Given the description of an element on the screen output the (x, y) to click on. 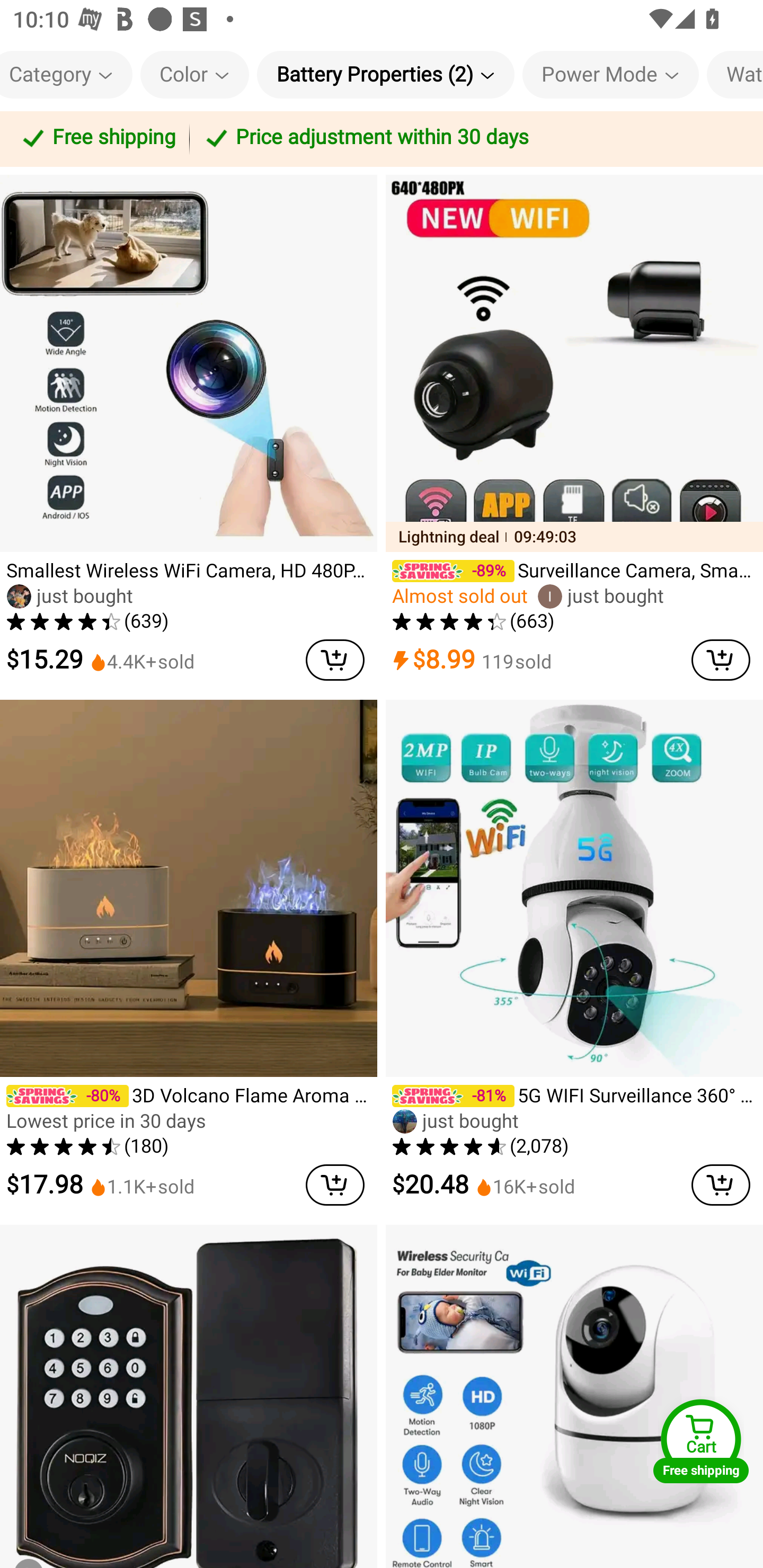
Category (66, 74)
Color (194, 74)
Battery Properties (2) (385, 74)
Power Mode (610, 74)
Free shipping (97, 138)
Price adjustment within 30 days (472, 138)
cart delete (334, 659)
cart delete (720, 659)
cart delete (334, 1185)
cart delete (720, 1185)
Cart Free shipping Cart (701, 1440)
